Given the description of an element on the screen output the (x, y) to click on. 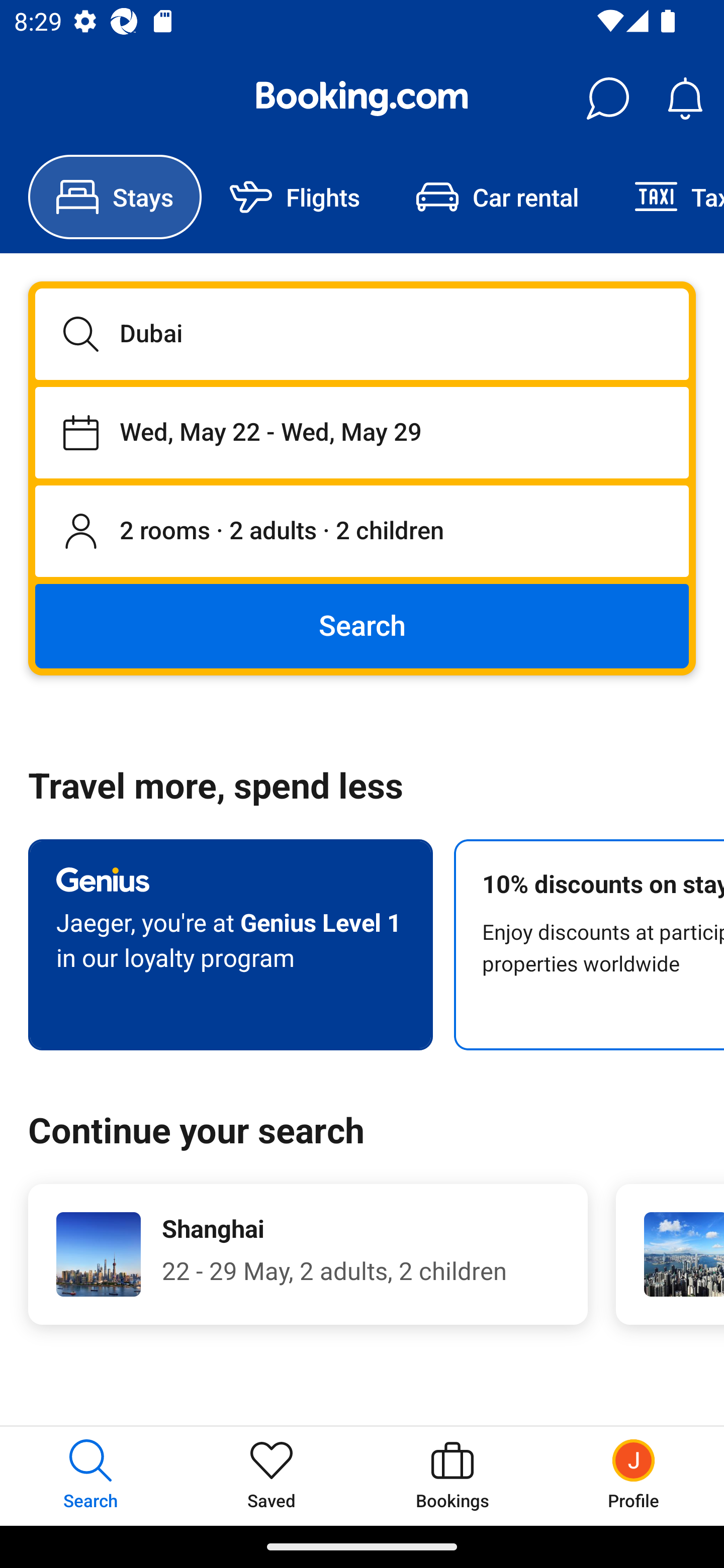
Messages (607, 98)
Notifications (685, 98)
Stays (114, 197)
Flights (294, 197)
Car rental (497, 197)
Taxi (665, 197)
Dubai (361, 333)
Staying from Wed, May 22 until Wed, May 29 (361, 432)
2 rooms, 2 adults, 2 children (361, 531)
Search (361, 625)
Shanghai 22 - 29 May, 2 adults, 2 children (307, 1253)
Saved (271, 1475)
Bookings (452, 1475)
Profile (633, 1475)
